Given the description of an element on the screen output the (x, y) to click on. 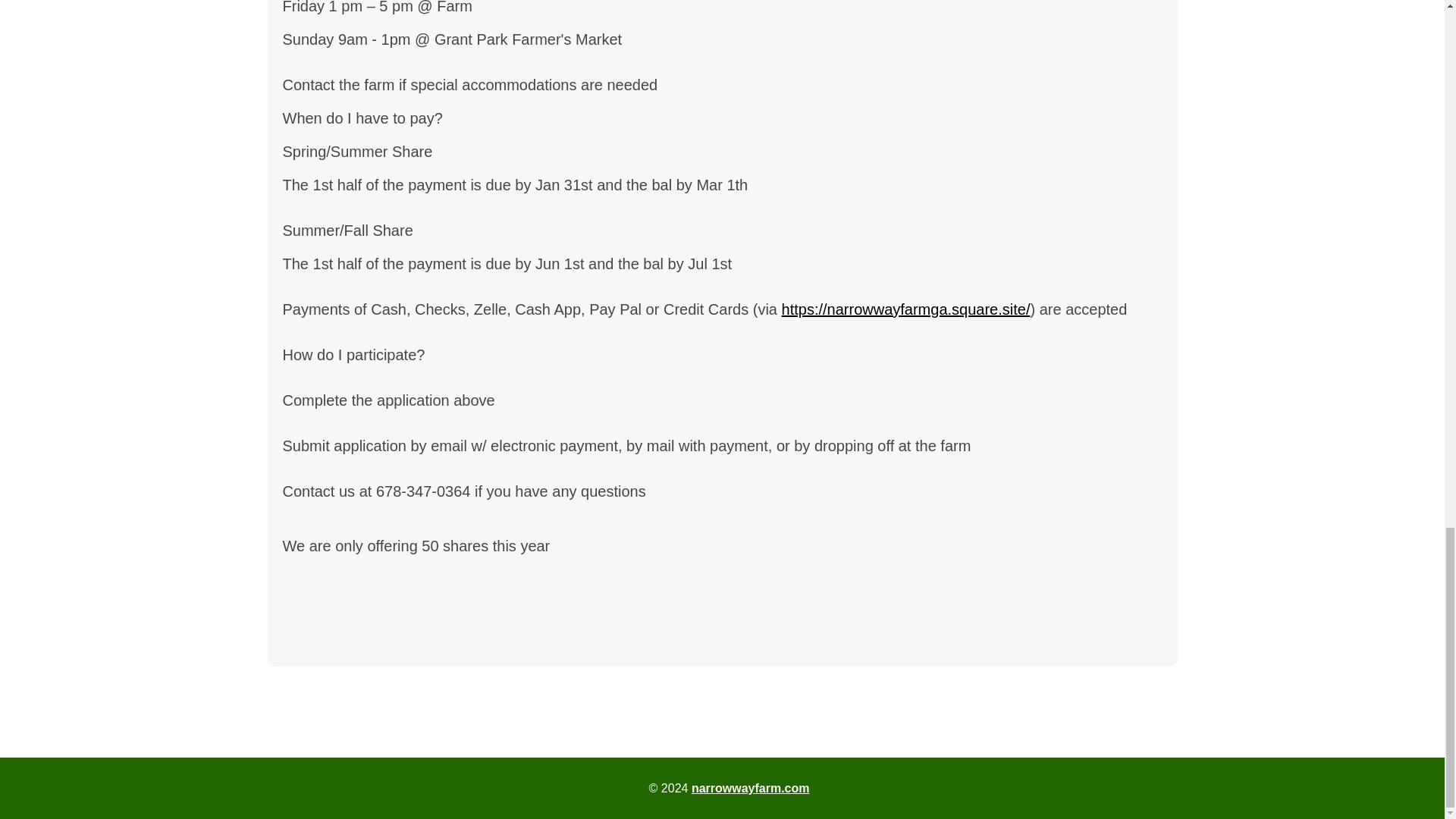
narrowwayfarm.com (750, 788)
